Given the description of an element on the screen output the (x, y) to click on. 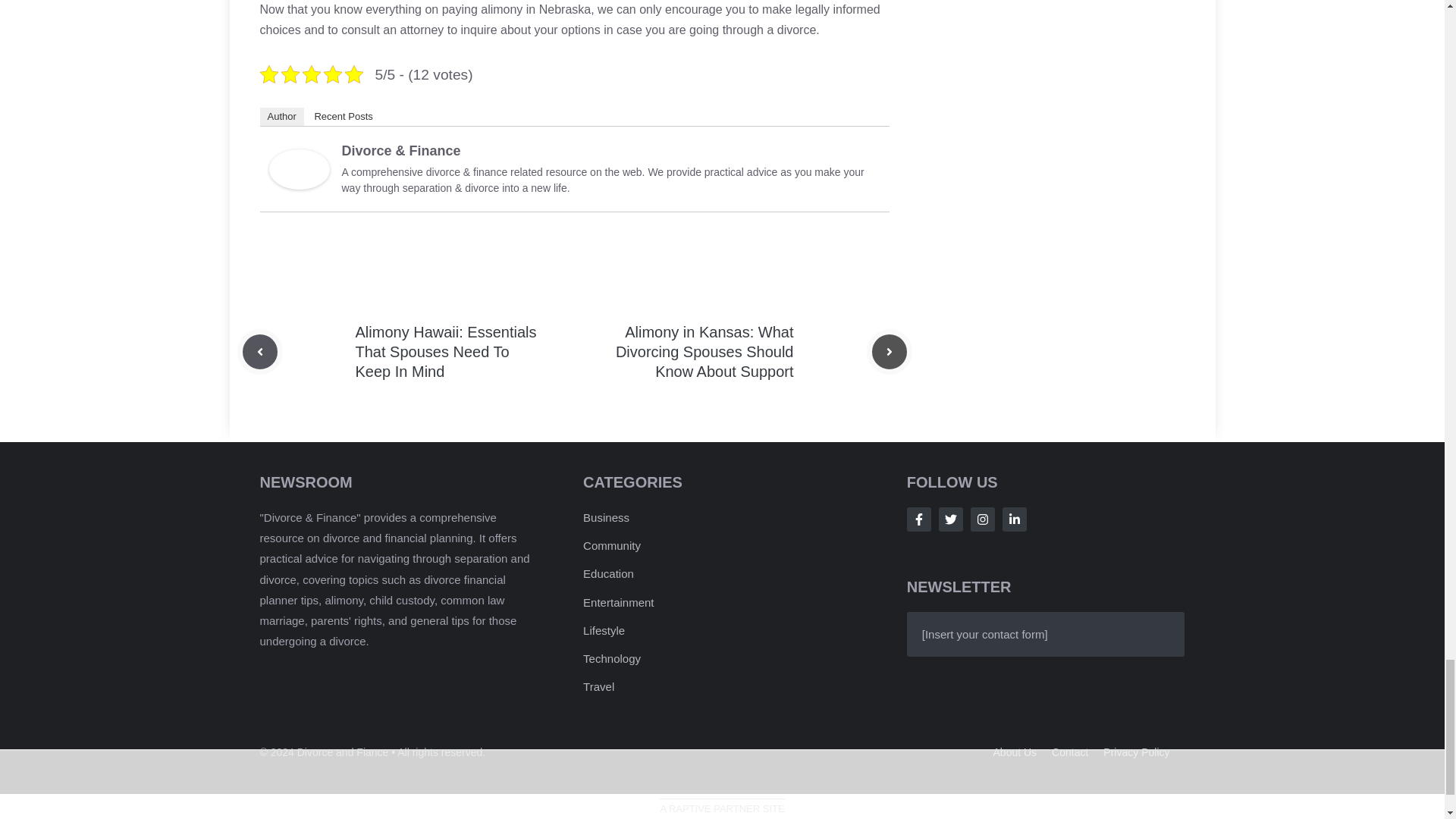
Author (280, 116)
Recent Posts (342, 116)
Alimony Hawaii: Essentials That Spouses Need To Keep In Mind (445, 351)
